Given the description of an element on the screen output the (x, y) to click on. 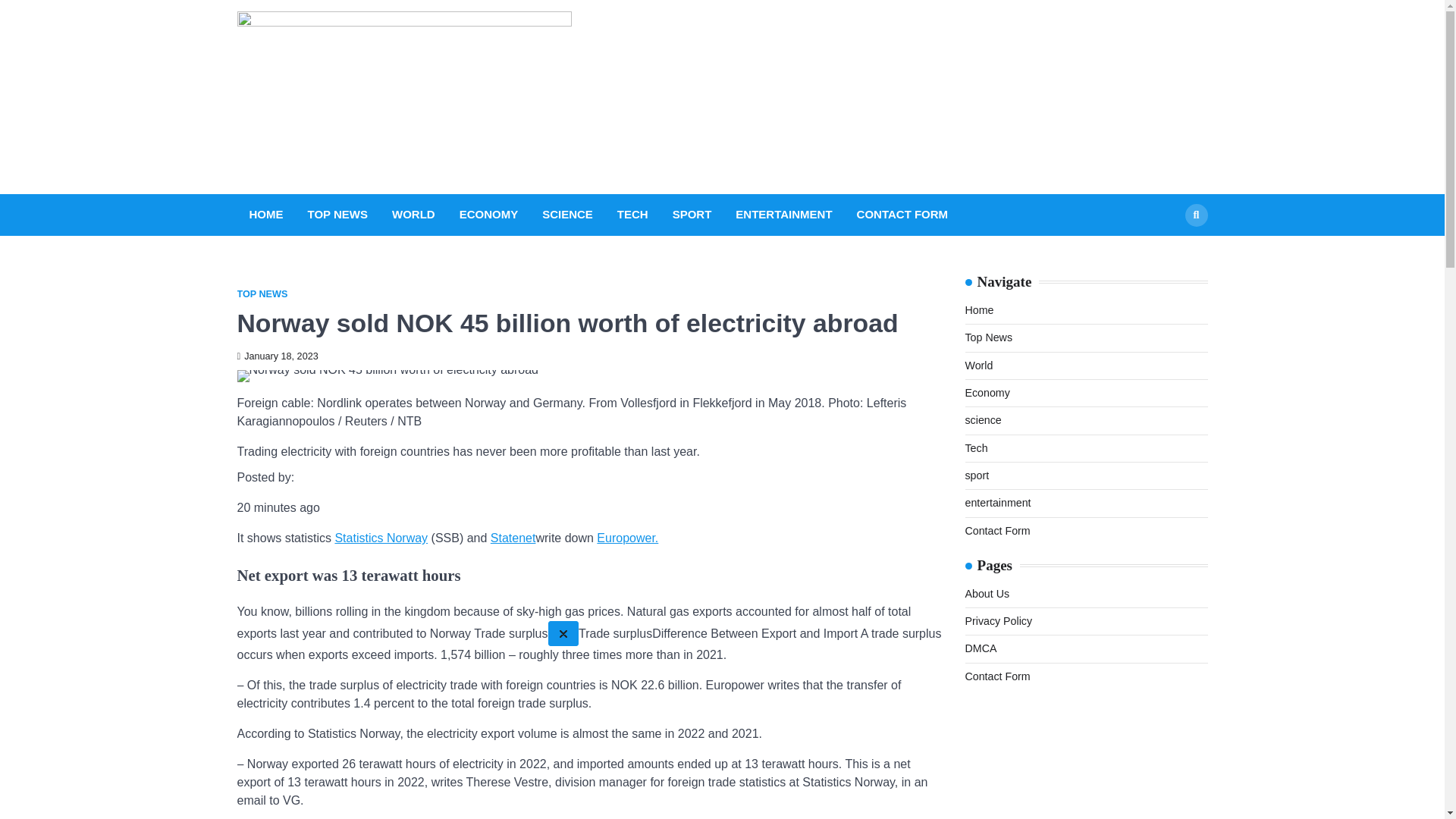
WORLD (413, 214)
ENTERTAINMENT (783, 214)
entertainment (996, 502)
SCIENCE (566, 214)
Statenet (512, 537)
Norway sold NOK 45 billion worth of electricity abroad (386, 376)
Home (977, 309)
ECONOMY (488, 214)
HOME (265, 214)
World (977, 365)
